Given the description of an element on the screen output the (x, y) to click on. 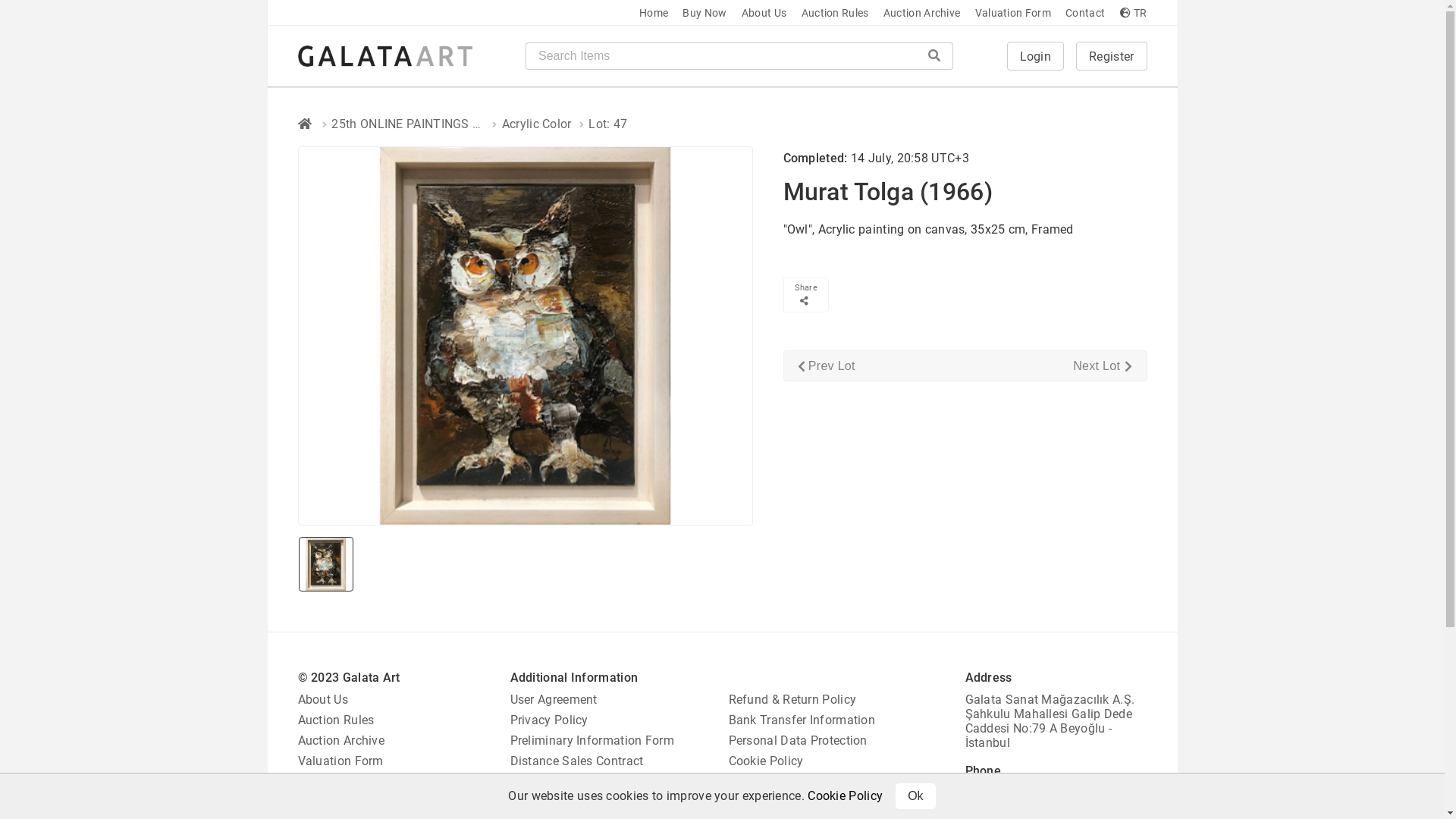
Buy Now Element type: text (704, 12)
TR Element type: text (1133, 12)
About Us Element type: text (763, 12)
Auction Rules Element type: text (835, 12)
Home Element type: text (653, 12)
Next Lot Element type: text (1102, 365)
Cookie Policy Element type: text (765, 760)
Contact Element type: text (1084, 12)
Contact Element type: text (318, 781)
Preliminary Information Form Element type: text (591, 740)
Register Element type: text (1110, 55)
Lot: 47 Element type: text (607, 123)
User Agreement Element type: text (552, 699)
25th ONLINE PAINTINGS AUCTION Element type: text (427, 123)
Distance Sales Contract Element type: text (576, 760)
Auction Archive Element type: text (921, 12)
+90 (212) 244 00 27 Element type: text (1021, 792)
Bank Transfer Information Element type: text (801, 719)
Valuation Form Element type: text (339, 760)
Refund & Return Policy Element type: text (792, 699)
Prev Lot Element type: text (826, 365)
Ok Element type: text (914, 795)
Personal Data Protection Element type: text (797, 740)
Home page Element type: hover (305, 123)
Galata Art Element type: hover (368, 55)
Login Element type: text (1035, 55)
Valuation Form Element type: text (1013, 12)
Privacy Policy Element type: text (548, 719)
Cookie Policy Element type: text (844, 795)
Auction Archive Element type: text (340, 740)
Acrylic Color Element type: text (536, 123)
About Us Element type: text (322, 699)
Auction Rules Element type: text (335, 719)
